Given the description of an element on the screen output the (x, y) to click on. 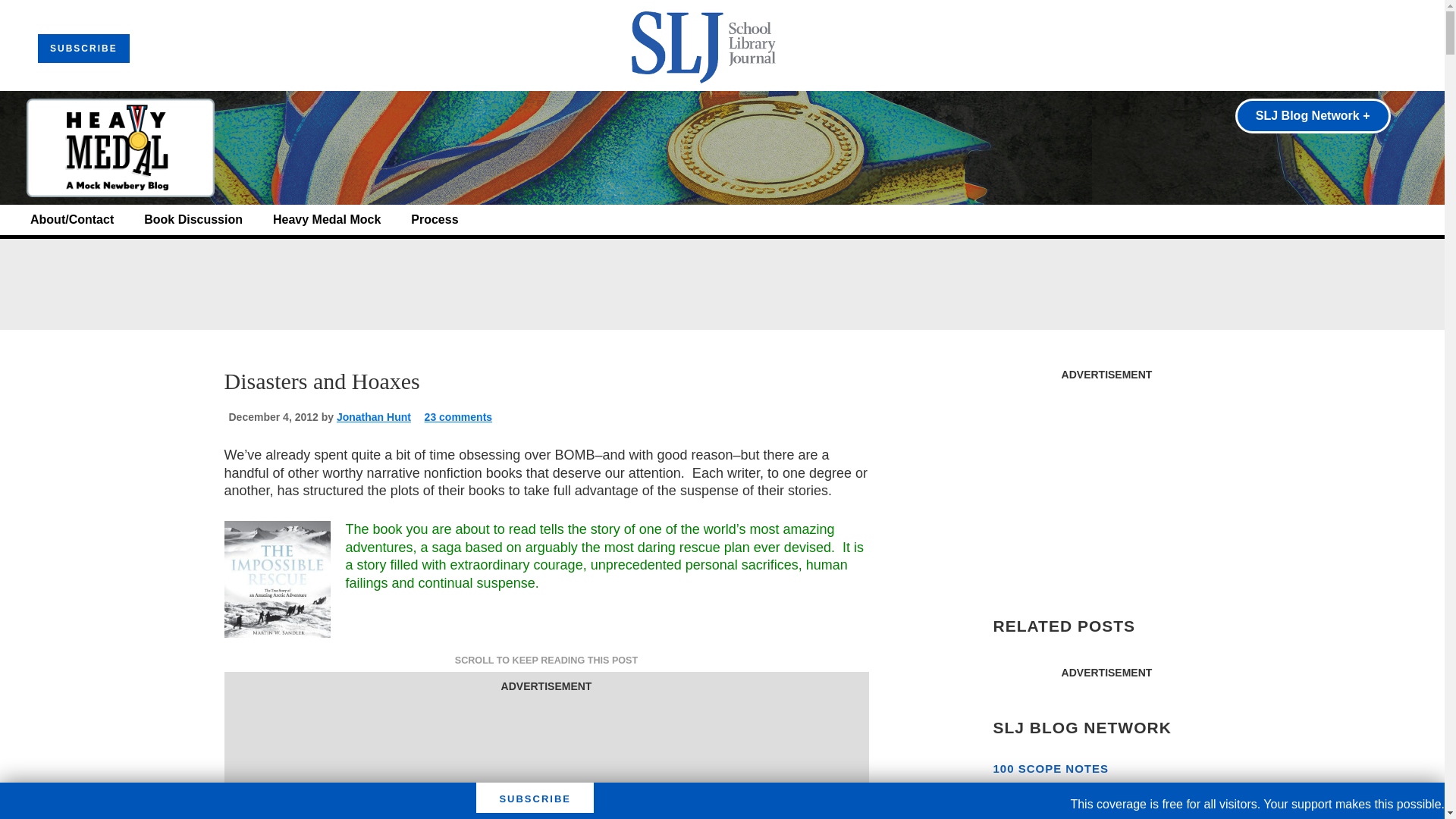
3rd party ad content (545, 757)
Now on The Yarn: Our 2024 Newbery Honor Winners (1102, 798)
Heavy Medal Mock (326, 219)
SCROLL TO KEEP READING THIS POST (546, 660)
3rd party ad content (1106, 483)
23 comments (458, 417)
Jonathan Hunt (373, 417)
Book Discussion (193, 219)
Process (434, 219)
SUBSCRIBE (83, 48)
3rd party ad content (721, 284)
